Given the description of an element on the screen output the (x, y) to click on. 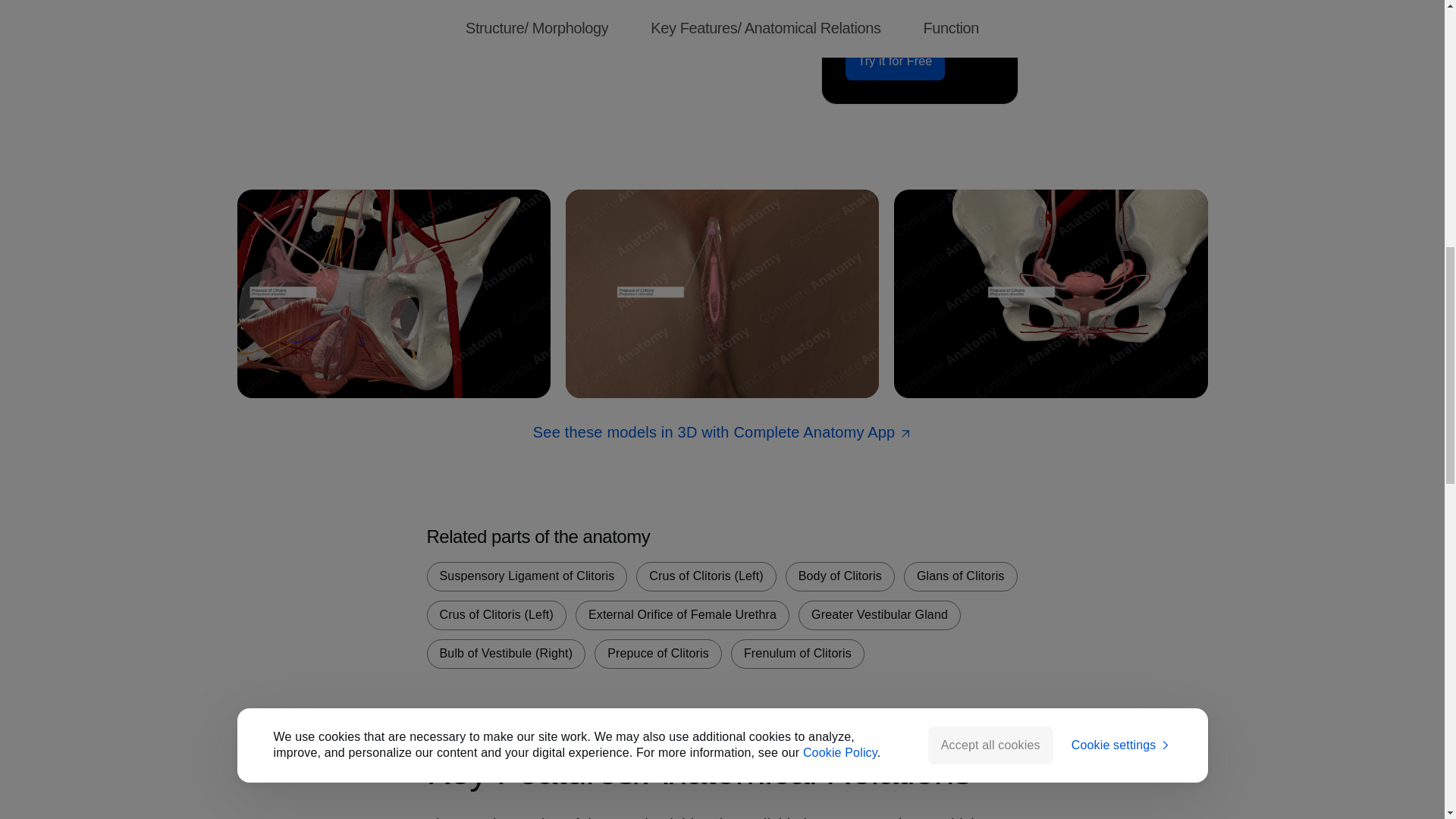
Suspensory Ligament of Clitoris (526, 576)
Try it for Free (894, 61)
